Given the description of an element on the screen output the (x, y) to click on. 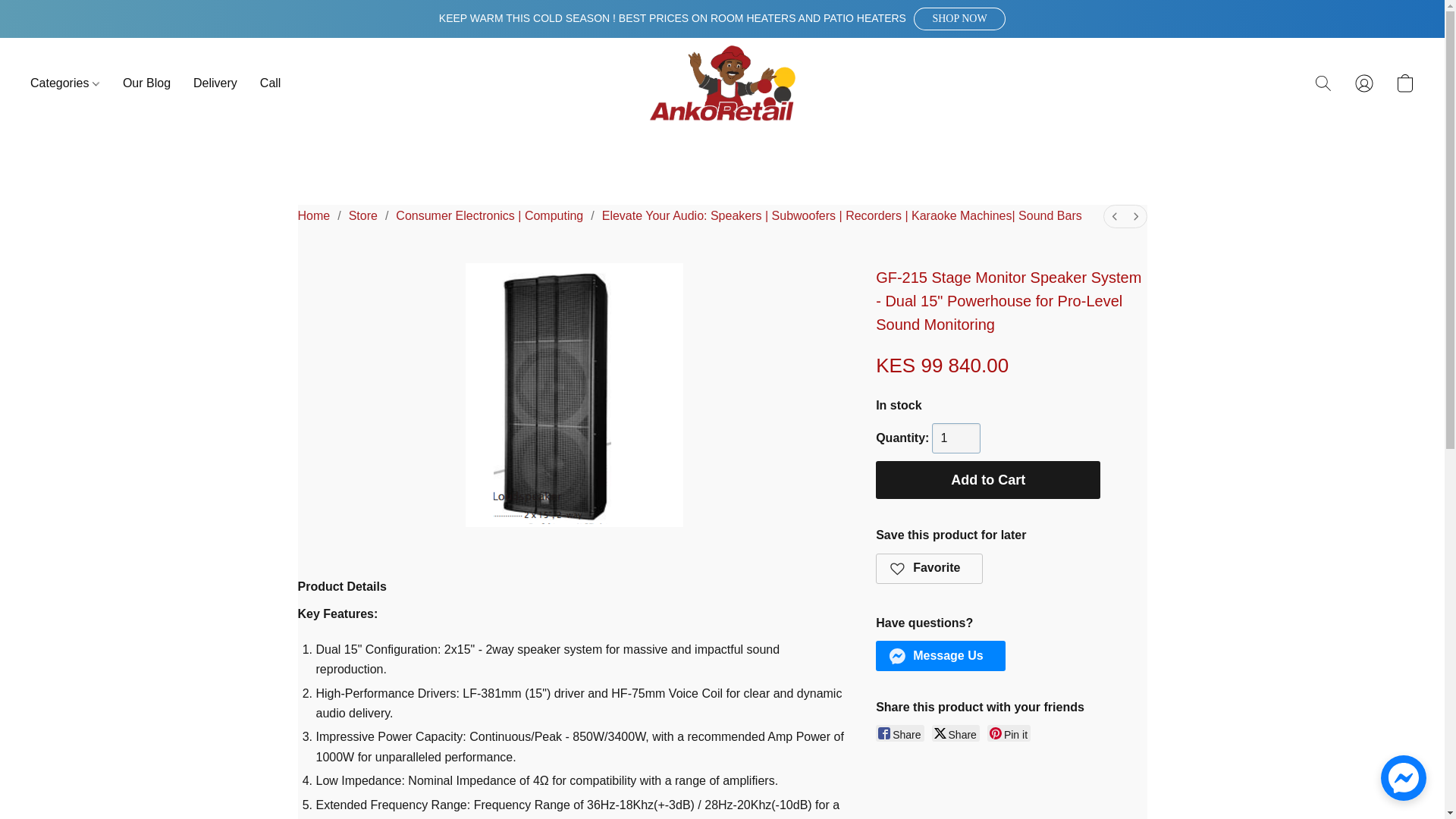
Call (264, 82)
Our Blog (147, 82)
Add to Cart (988, 479)
Delivery (215, 82)
Pin it (1008, 733)
Search the website (1323, 82)
Share (955, 733)
Favorite (929, 568)
Categories (71, 82)
Share (899, 733)
Go to your shopping cart (1404, 82)
Message Us (941, 655)
Store (363, 215)
Home (313, 215)
SHOP NOW (960, 18)
